Given the description of an element on the screen output the (x, y) to click on. 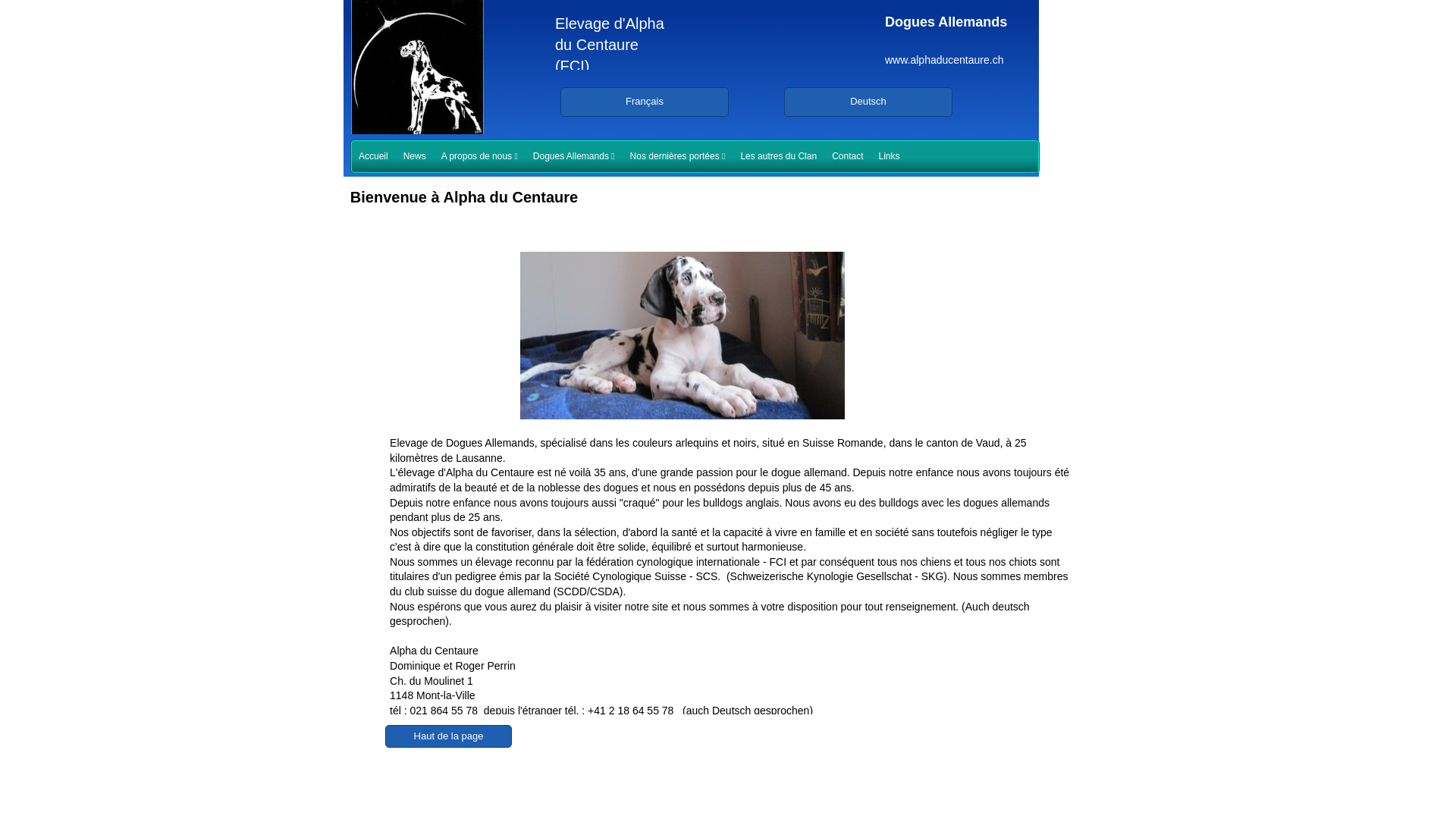
Haut de la page Element type: text (448, 735)
Contact Element type: text (847, 156)
Accueil Element type: text (373, 156)
Deutsch Element type: text (867, 101)
News Element type: text (414, 156)
Links Element type: text (888, 156)
Les autres du Clan Element type: text (778, 156)
